Given the description of an element on the screen output the (x, y) to click on. 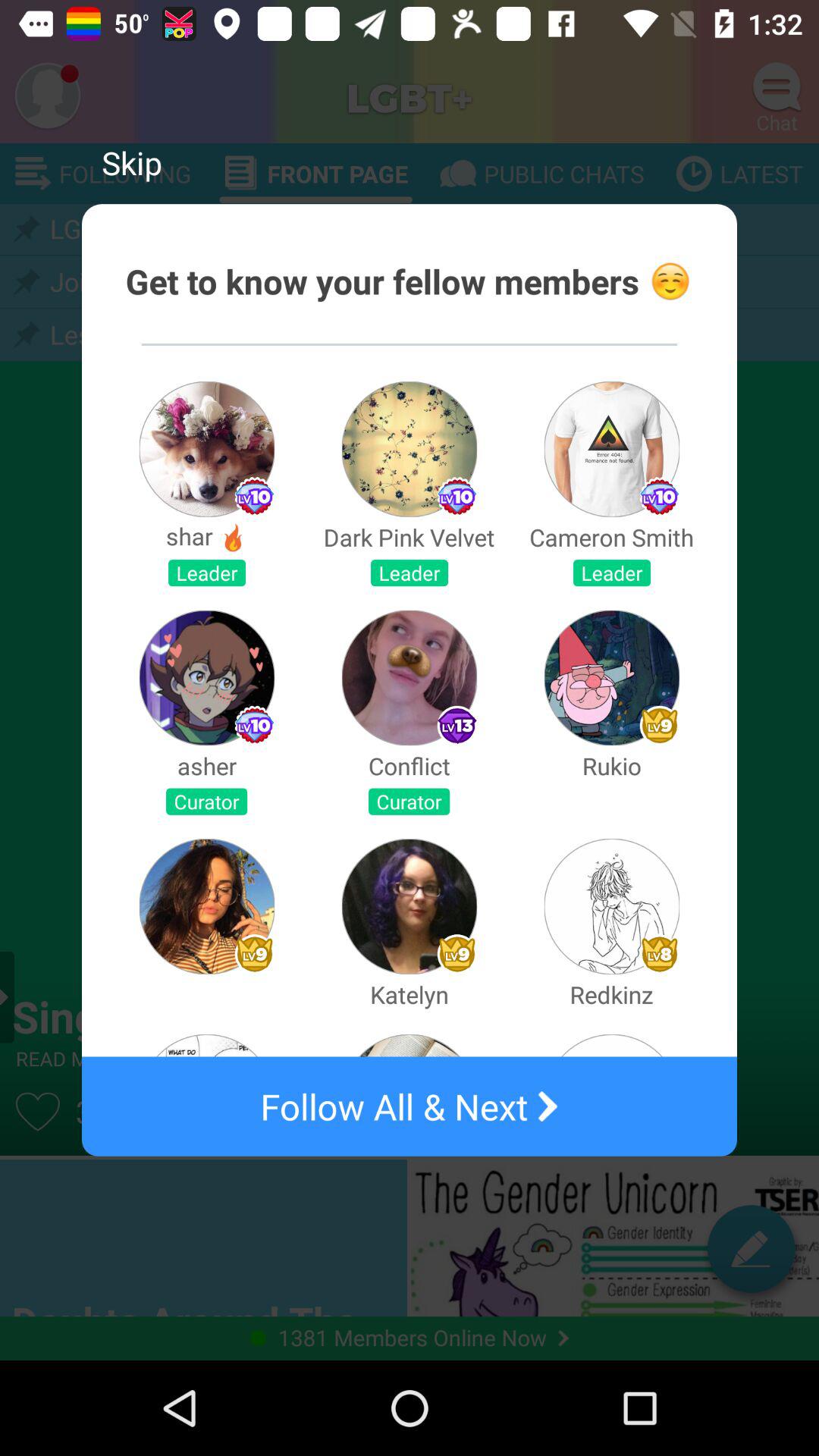
click on follow all and next  icon (409, 1106)
click the label on the first image (254, 496)
click on the first image in the second row (206, 677)
